Given the description of an element on the screen output the (x, y) to click on. 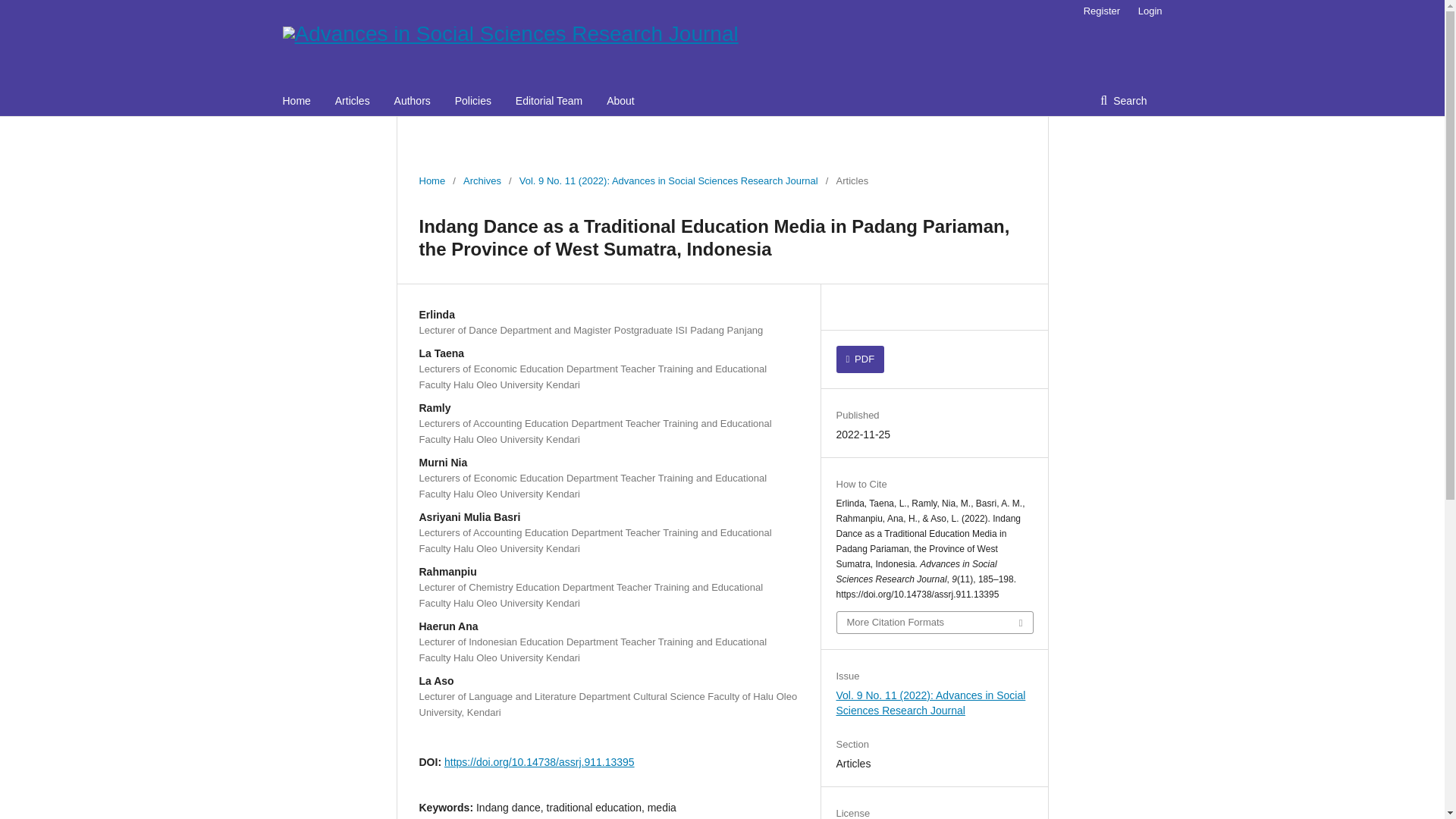
Policies (473, 100)
Search (1122, 100)
Login (1146, 11)
Authors (412, 100)
Articles (351, 100)
About (620, 100)
Register (1100, 11)
Editorial Team (548, 100)
Home (432, 181)
Home (296, 100)
